Given the description of an element on the screen output the (x, y) to click on. 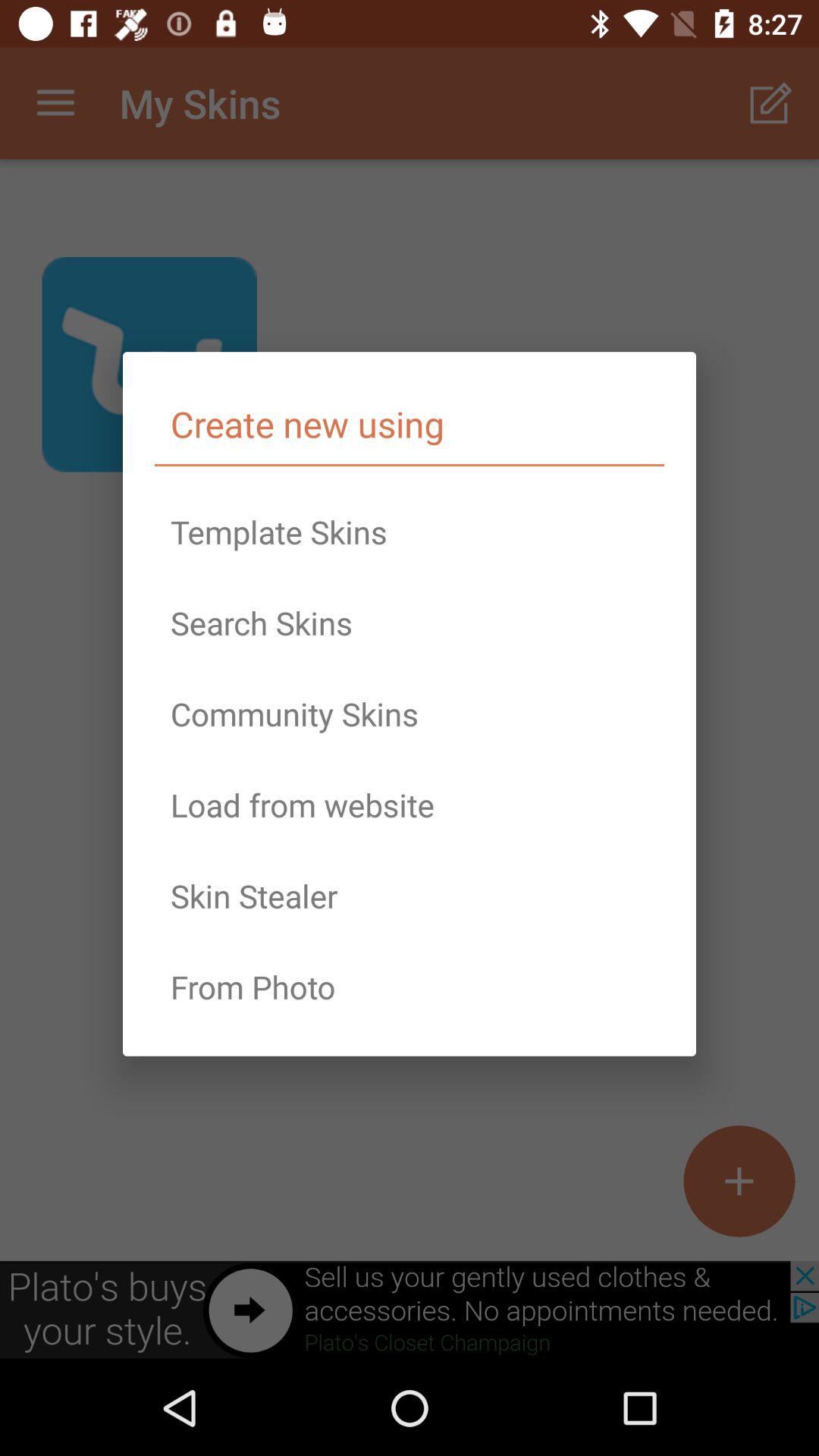
turn off the item below load from website (409, 895)
